Given the description of an element on the screen output the (x, y) to click on. 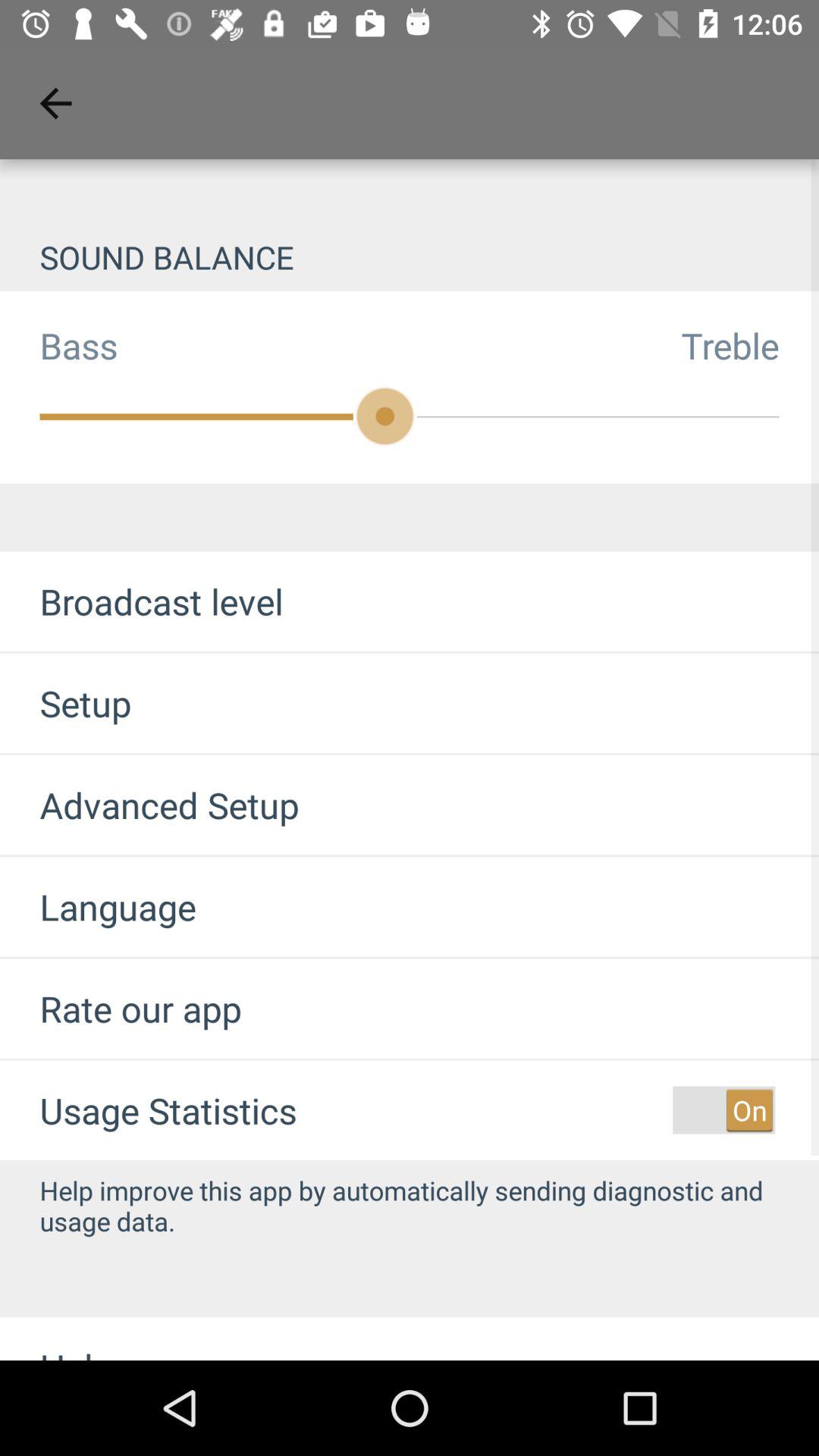
select the icon to the left of the treble icon (58, 345)
